Given the description of an element on the screen output the (x, y) to click on. 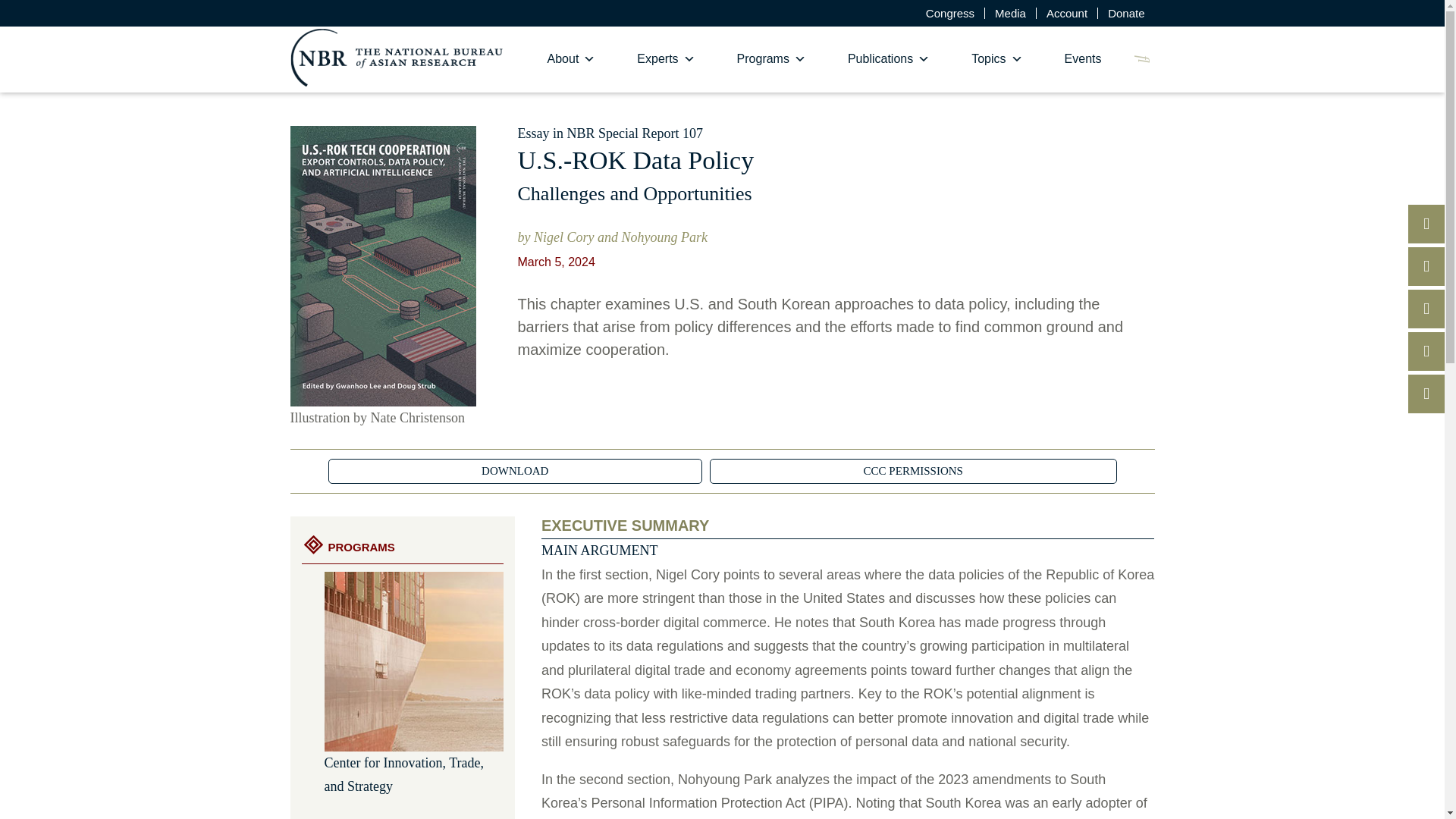
Programs (771, 59)
Donate (1125, 12)
About (571, 59)
Media (1010, 12)
Congress (949, 12)
Experts (665, 59)
Account (1066, 12)
